Given the description of an element on the screen output the (x, y) to click on. 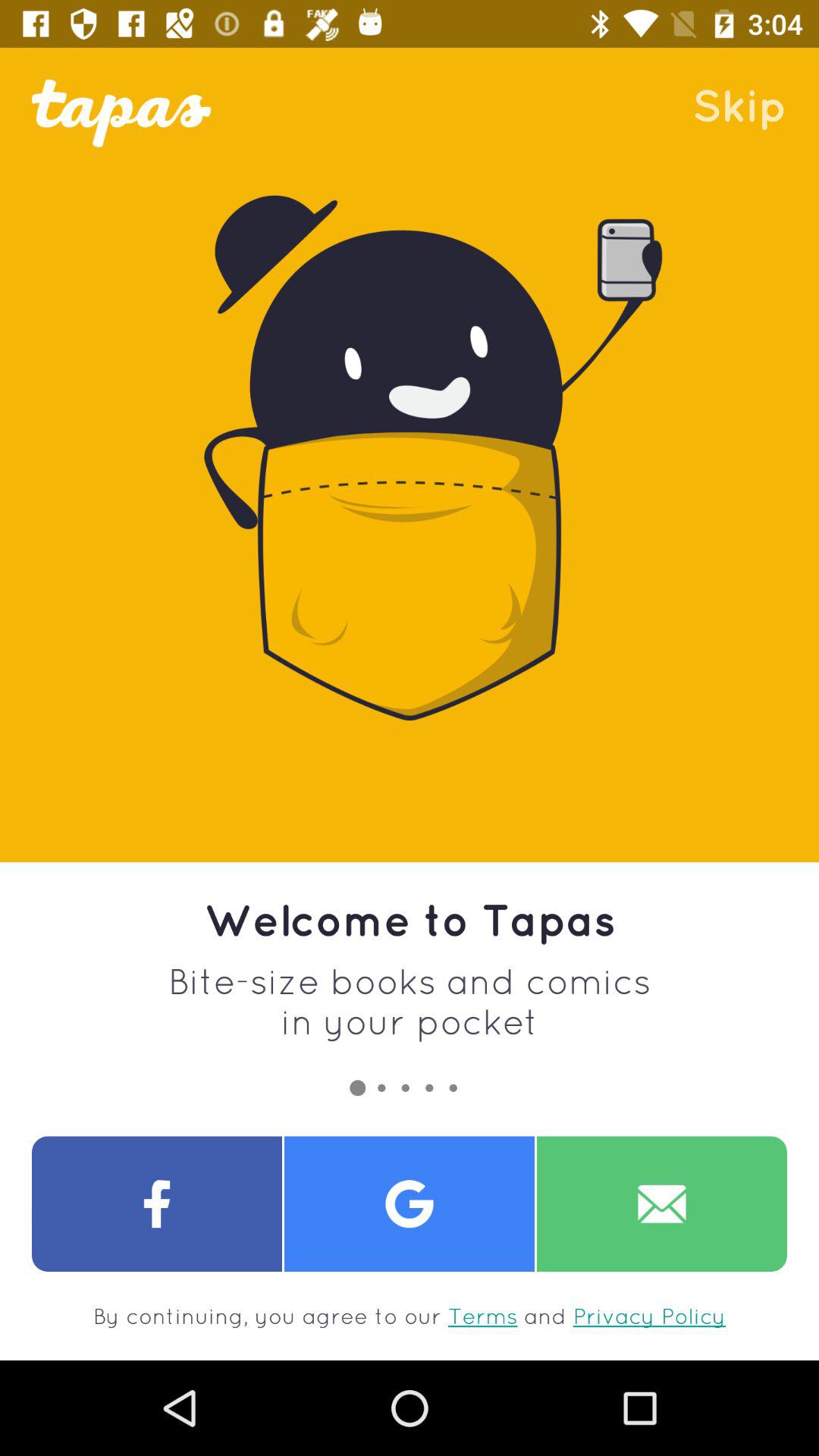
swipe to the by continuing you item (409, 1315)
